Given the description of an element on the screen output the (x, y) to click on. 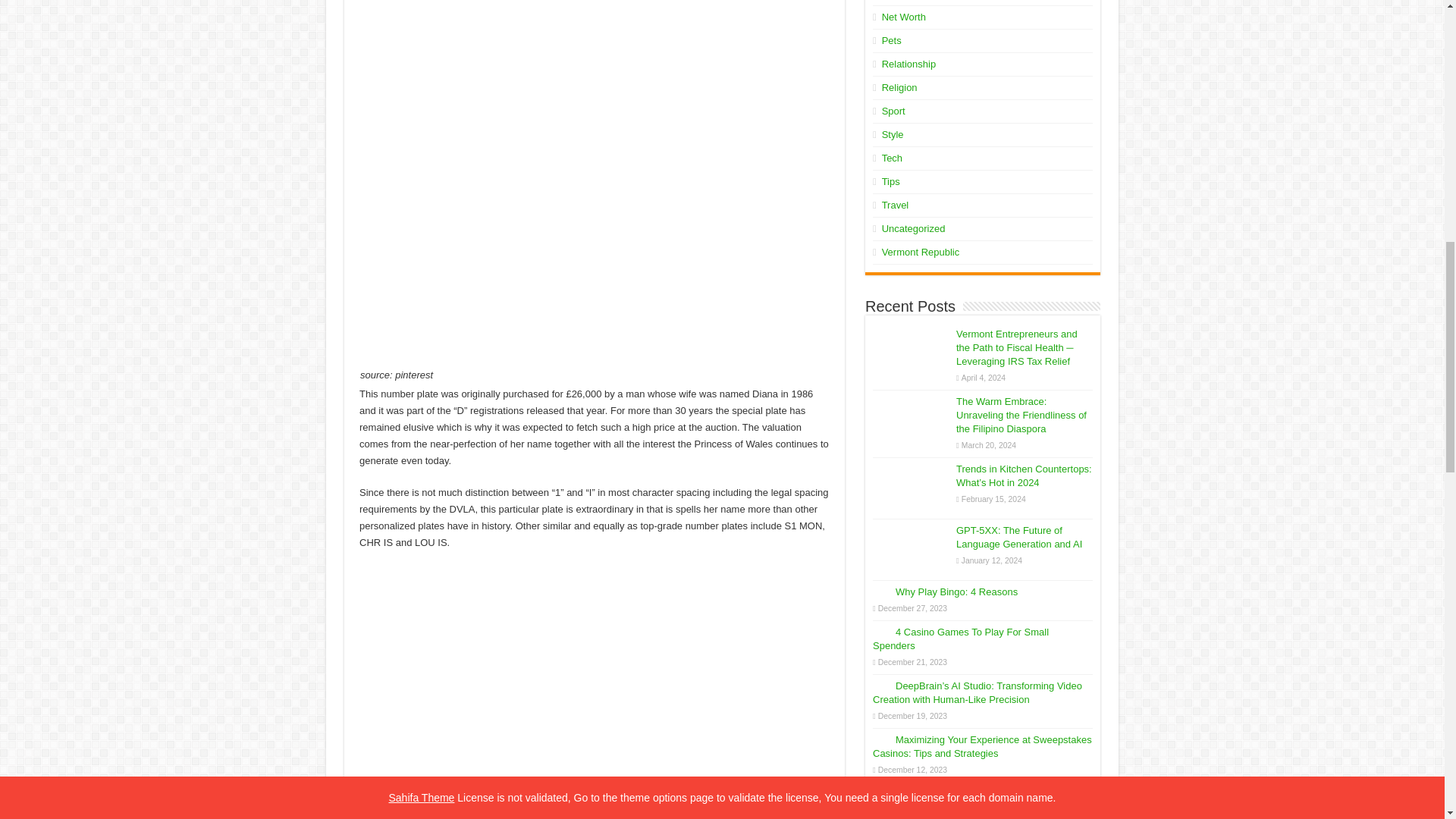
Scroll To Top (1421, 60)
